Given the description of an element on the screen output the (x, y) to click on. 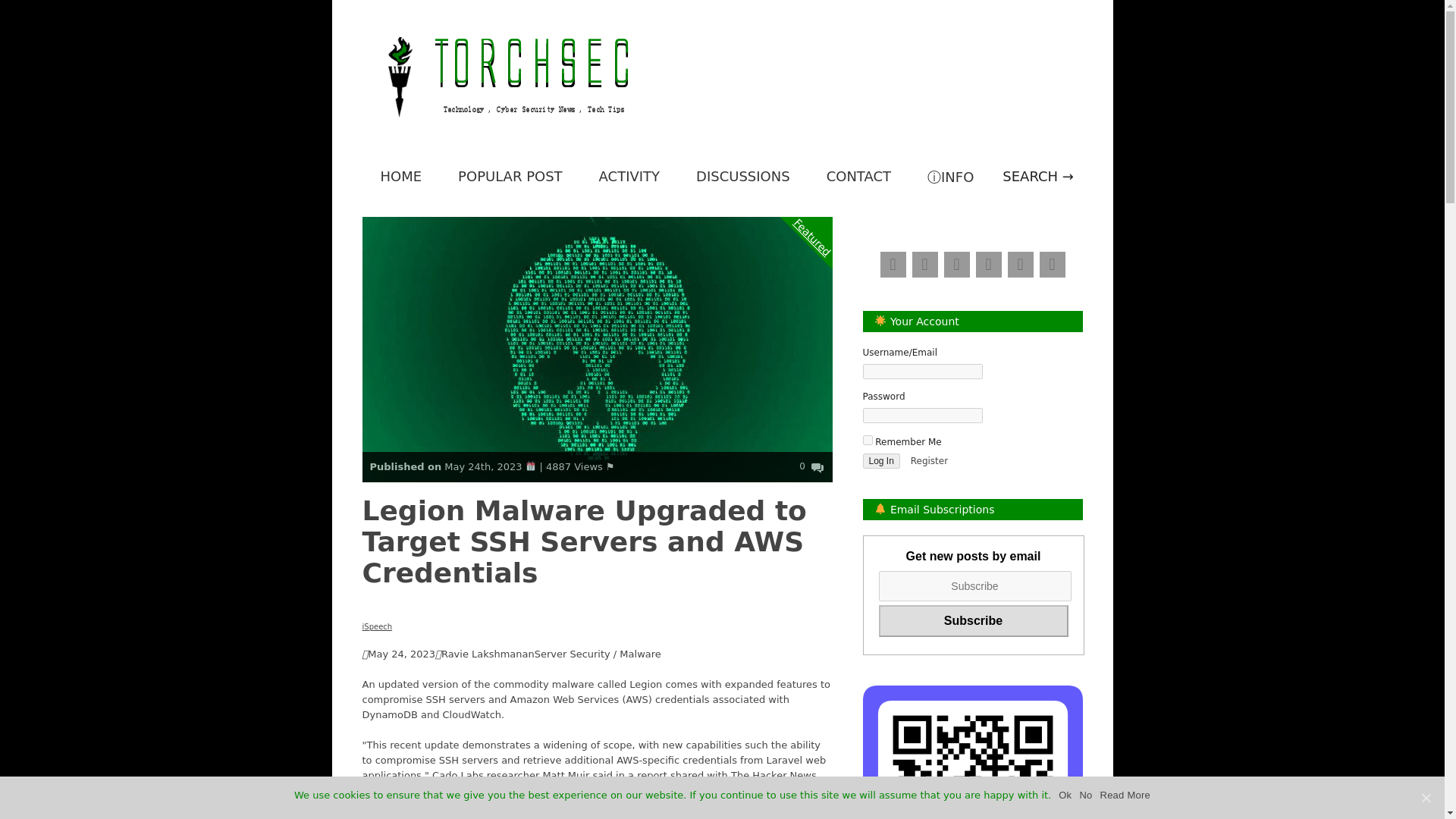
POPULAR POST (509, 176)
Subscribe (972, 621)
Contact (1019, 264)
mastodon (956, 264)
Log In (881, 460)
CONTACT (858, 176)
Github (988, 264)
Facebook (892, 264)
forever (867, 439)
Featured (828, 175)
YouTube (1051, 264)
Twitter (924, 264)
ACTIVITY (629, 176)
Facebook (892, 264)
Github (988, 264)
